Given the description of an element on the screen output the (x, y) to click on. 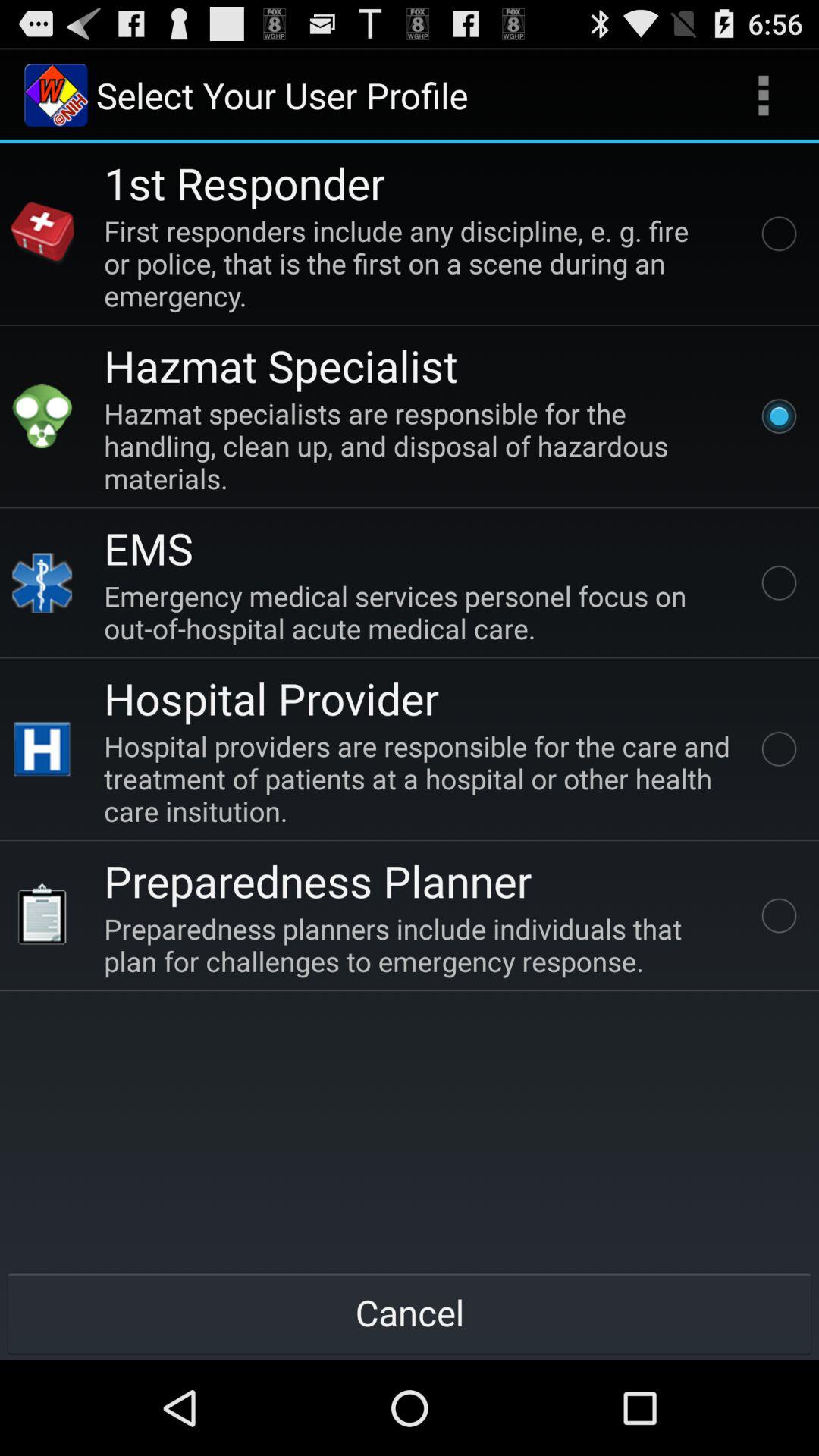
press app below 1st responder (420, 263)
